Given the description of an element on the screen output the (x, y) to click on. 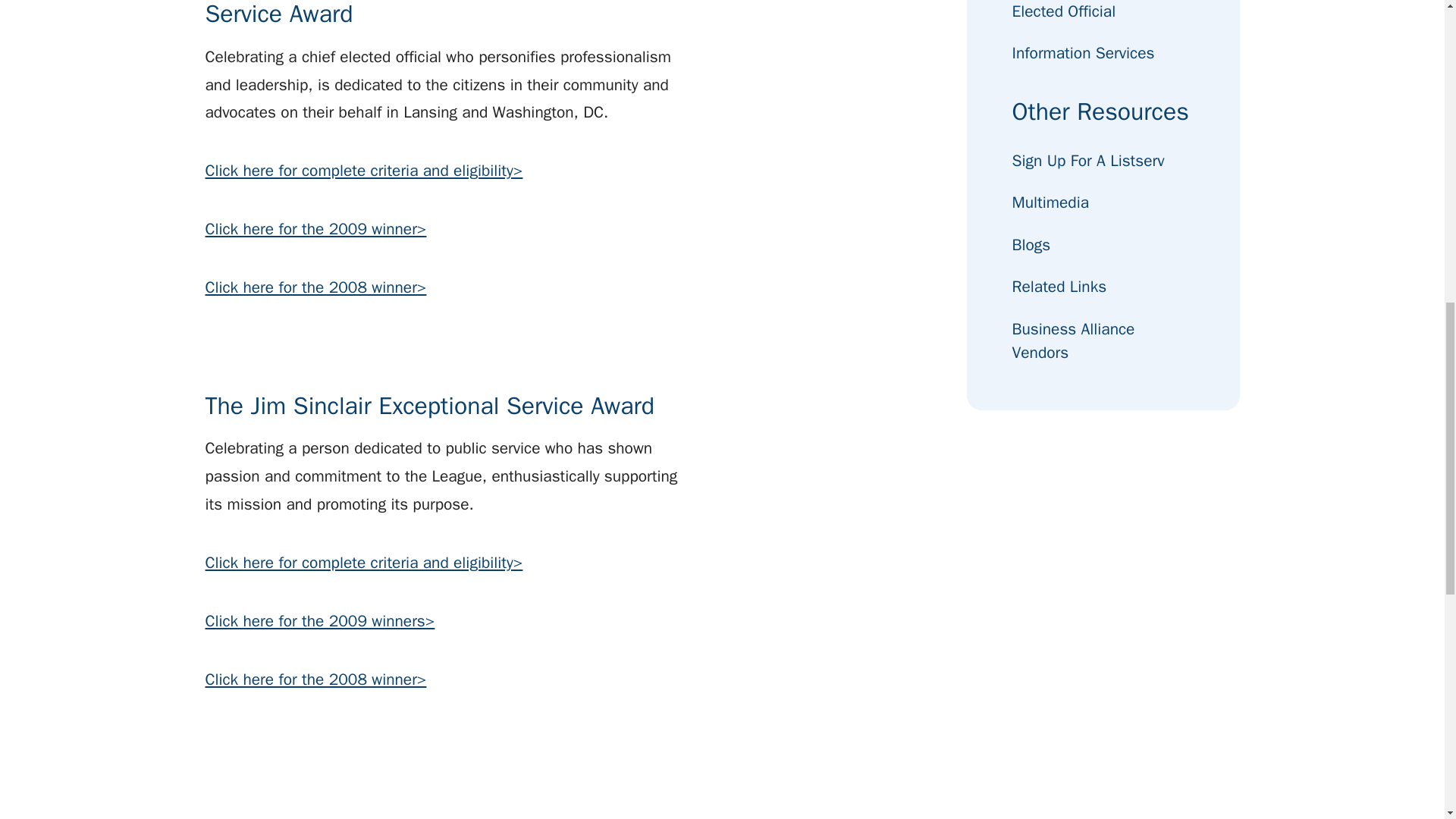
Sign Up For A Listserv (1087, 160)
Information Services (1082, 53)
Business Alliance Vendors (1102, 340)
Items For The Newly Elected Official (1102, 11)
Blogs (1030, 245)
Related Links (1058, 286)
Multimedia (1049, 202)
